Given the description of an element on the screen output the (x, y) to click on. 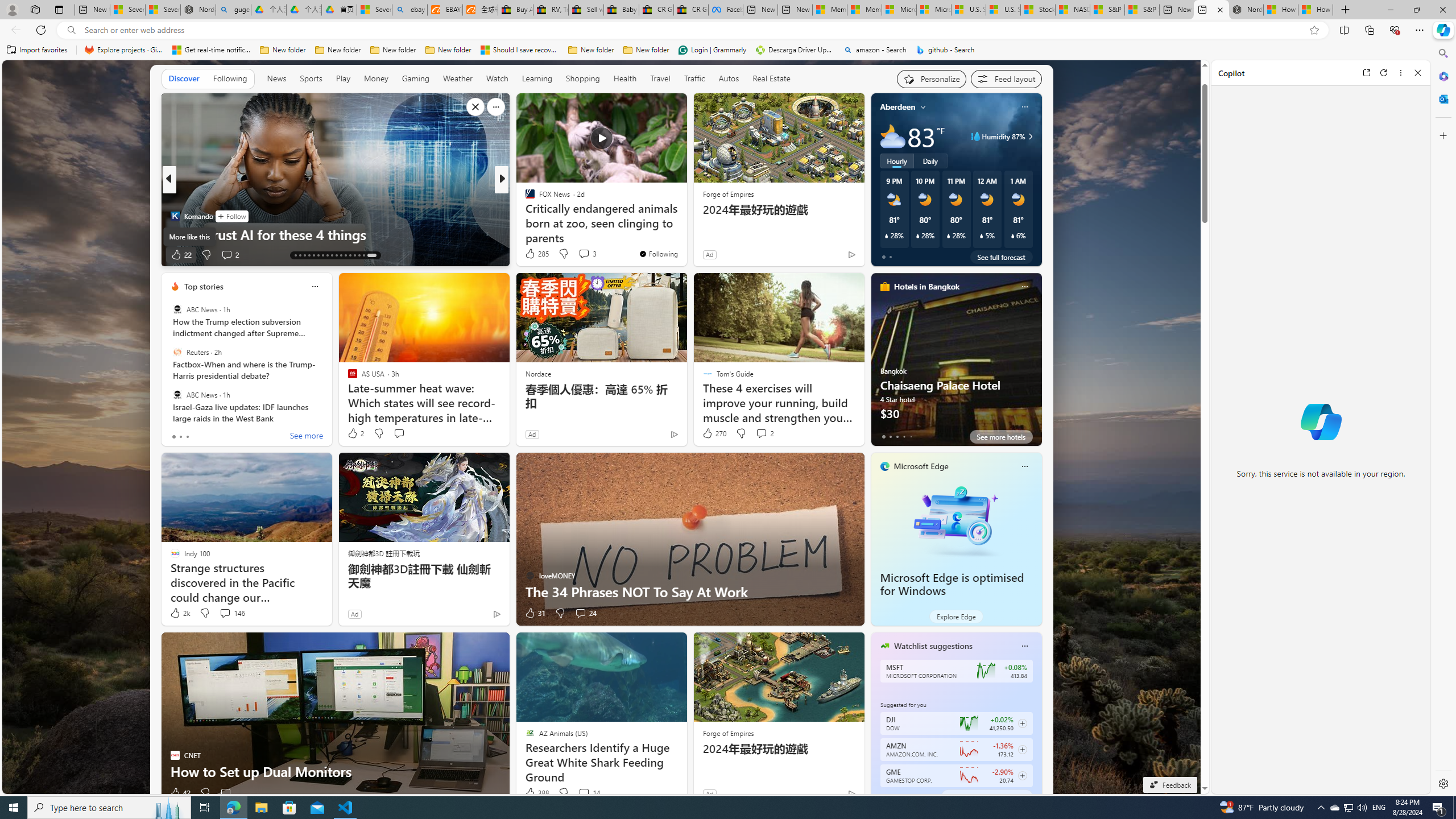
2k Like (179, 612)
View comments 14 Comment (588, 792)
Address and search bar (692, 29)
